Given the description of an element on the screen output the (x, y) to click on. 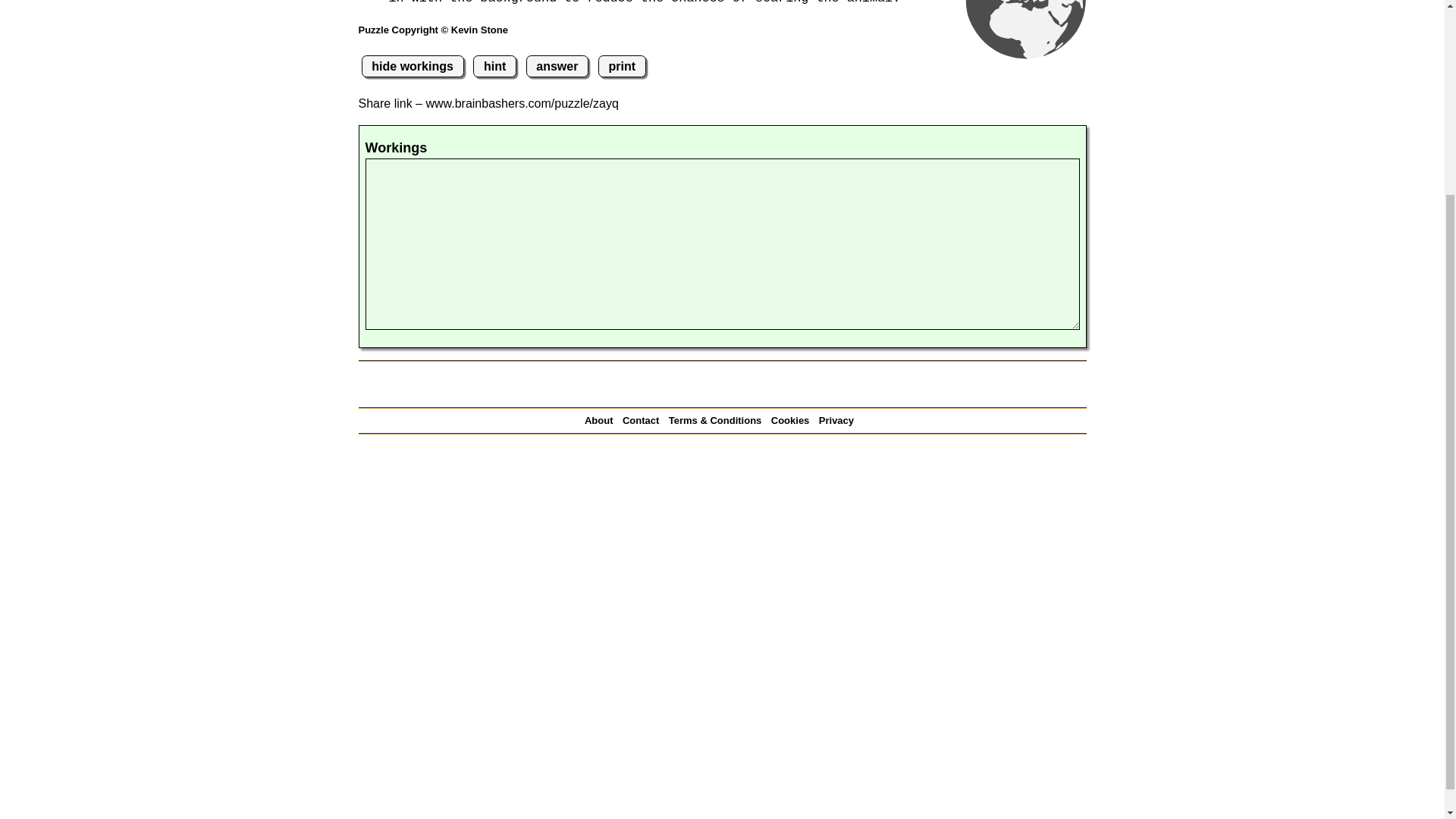
hint (494, 65)
Privacy (839, 420)
Contact (644, 420)
About (602, 420)
answer (557, 65)
Cookies (793, 420)
hide workings (412, 65)
print (622, 65)
